Given the description of an element on the screen output the (x, y) to click on. 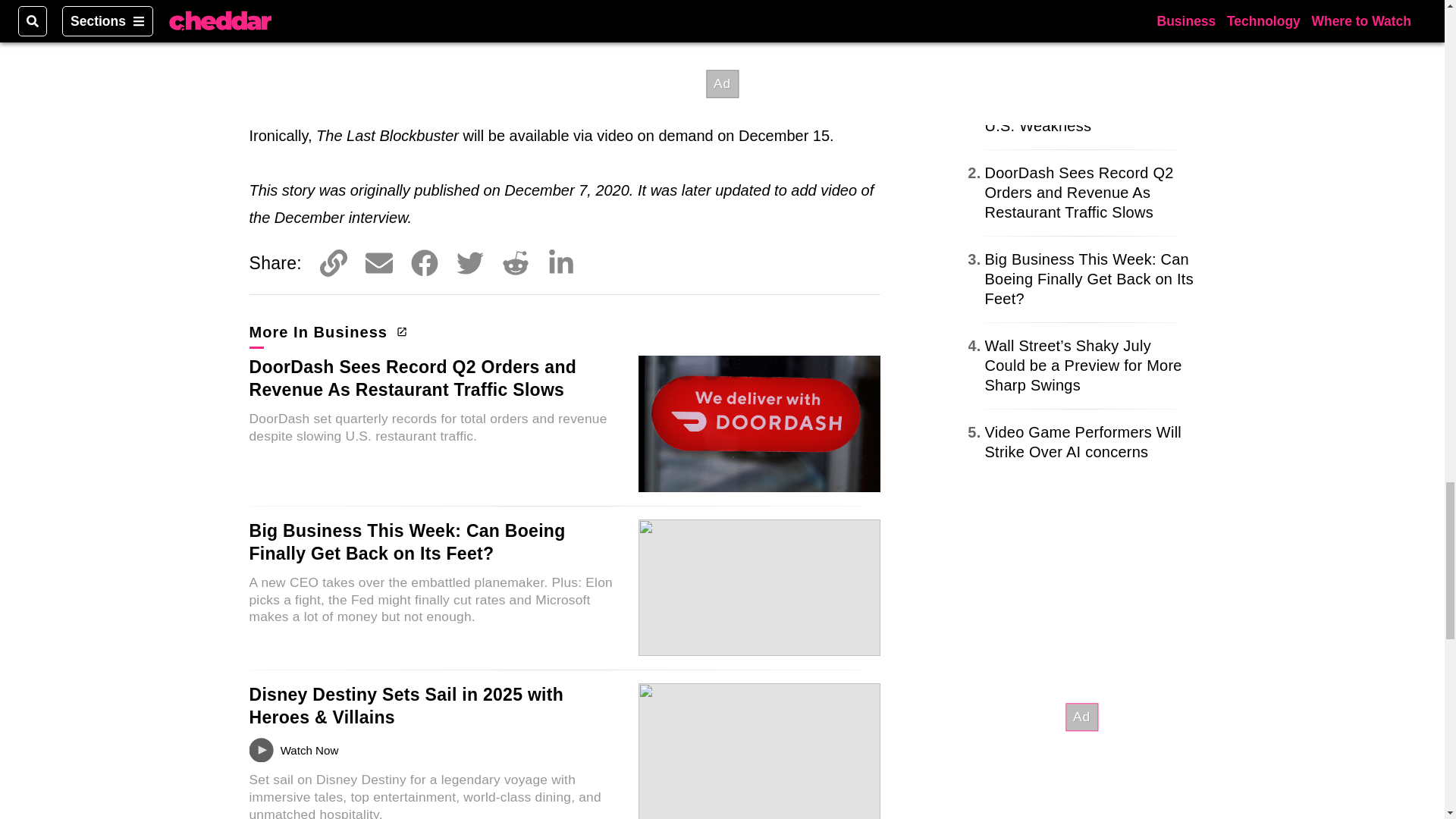
More In Business (325, 332)
